Given the description of an element on the screen output the (x, y) to click on. 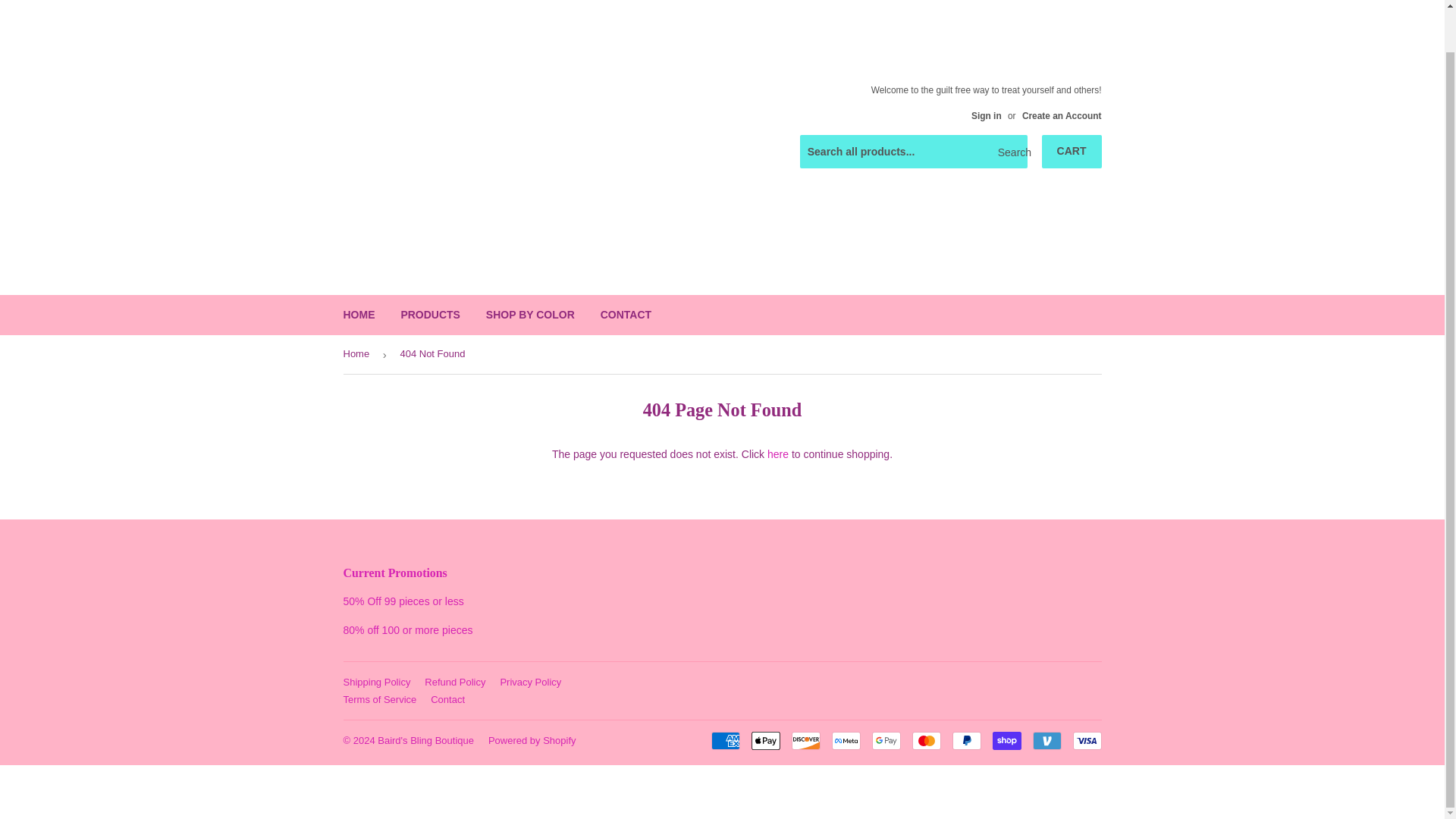
Mastercard (925, 741)
Create an Account (1062, 115)
Apple Pay (764, 741)
Discover (806, 741)
Search (1009, 152)
Google Pay (886, 741)
Sign in (986, 115)
American Express (725, 741)
PayPal (966, 741)
Venmo (1046, 741)
